Given the description of an element on the screen output the (x, y) to click on. 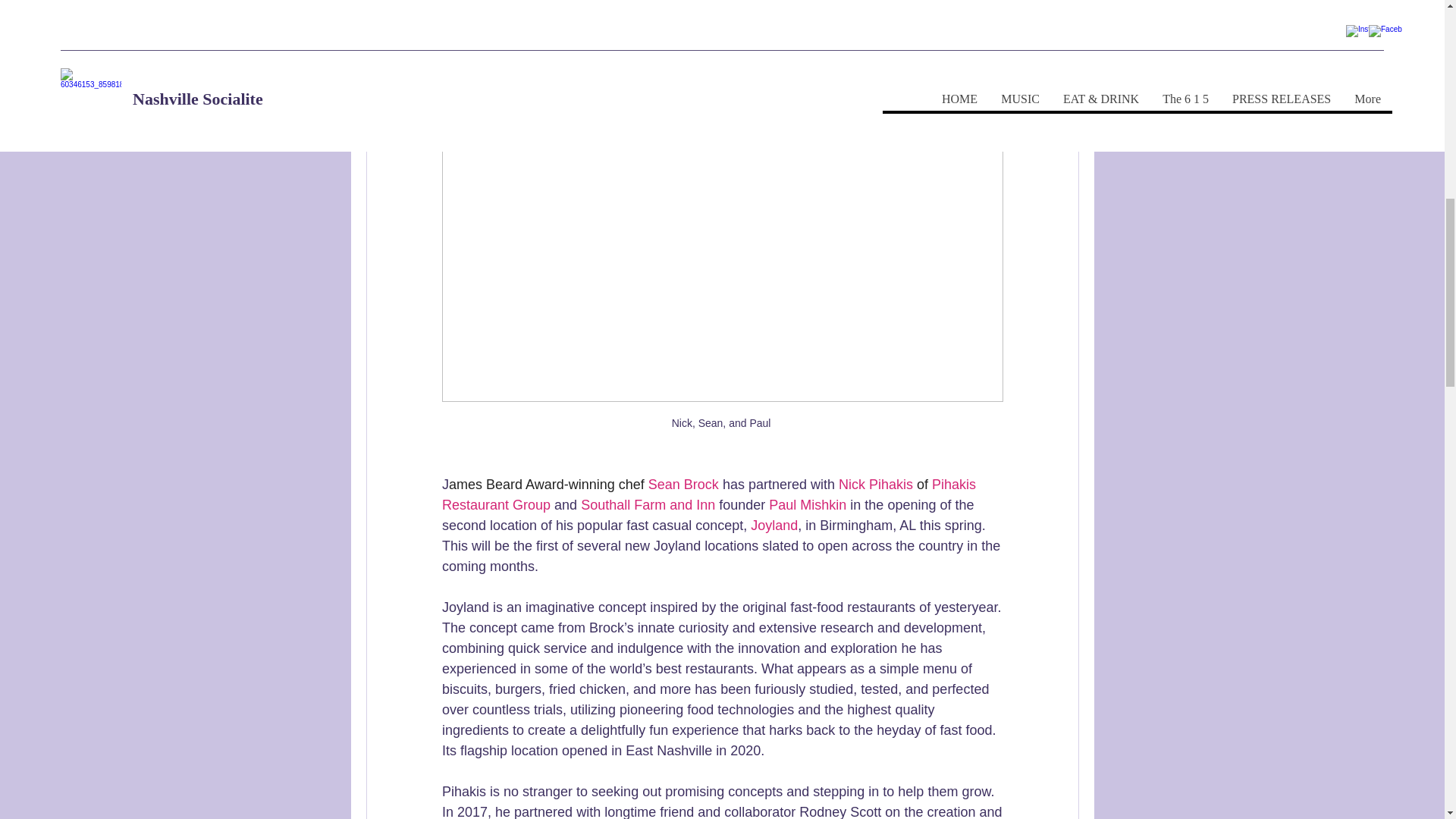
Nick Pihakis (875, 484)
Joyland (774, 525)
Sean Brock (682, 484)
Southall Farm and Inn (647, 504)
Pihakis Restaurant Group (709, 494)
Paul Mishkin (806, 504)
